Given the description of an element on the screen output the (x, y) to click on. 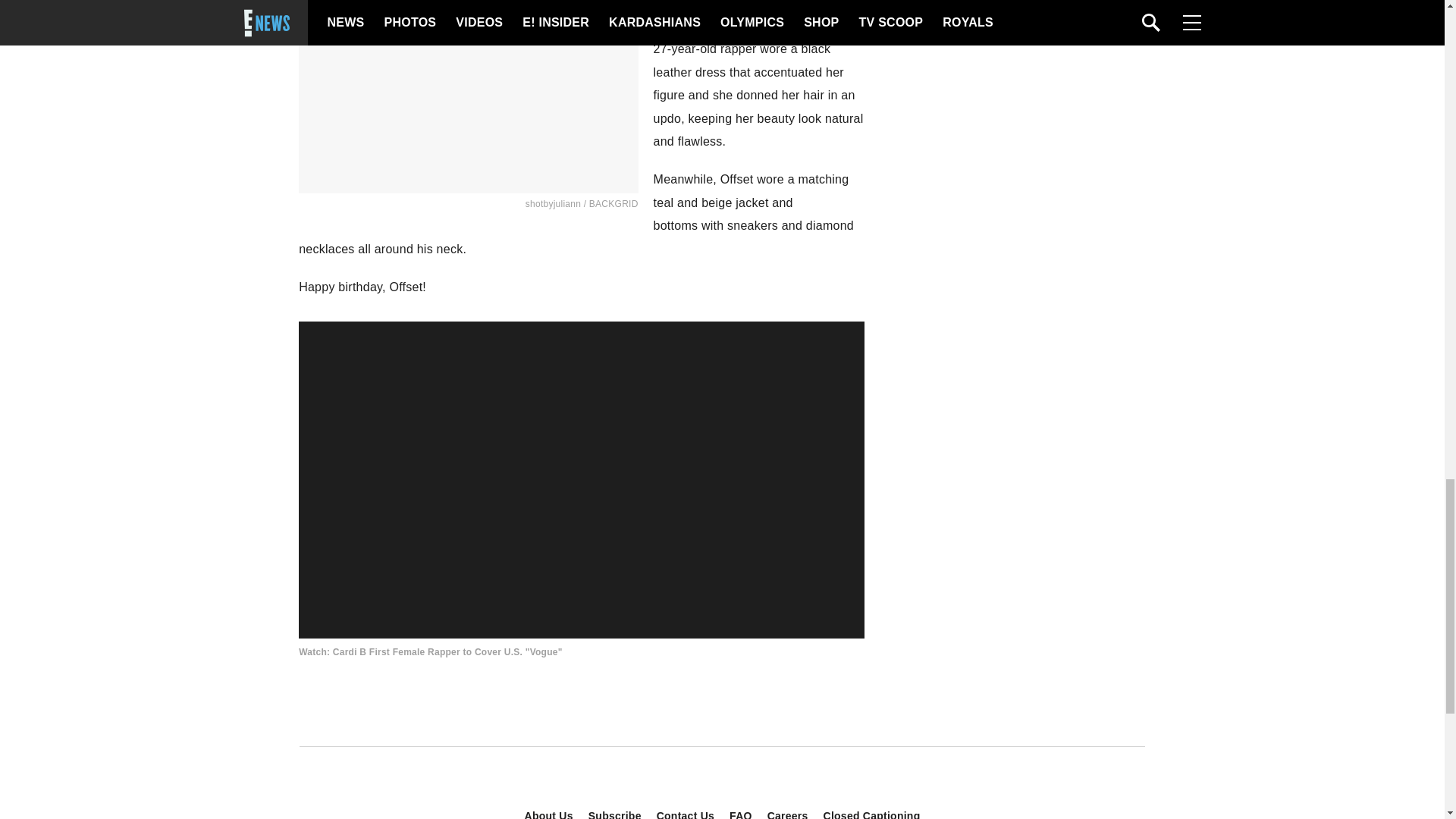
Subscribe (614, 811)
About Us (548, 811)
